Given the description of an element on the screen output the (x, y) to click on. 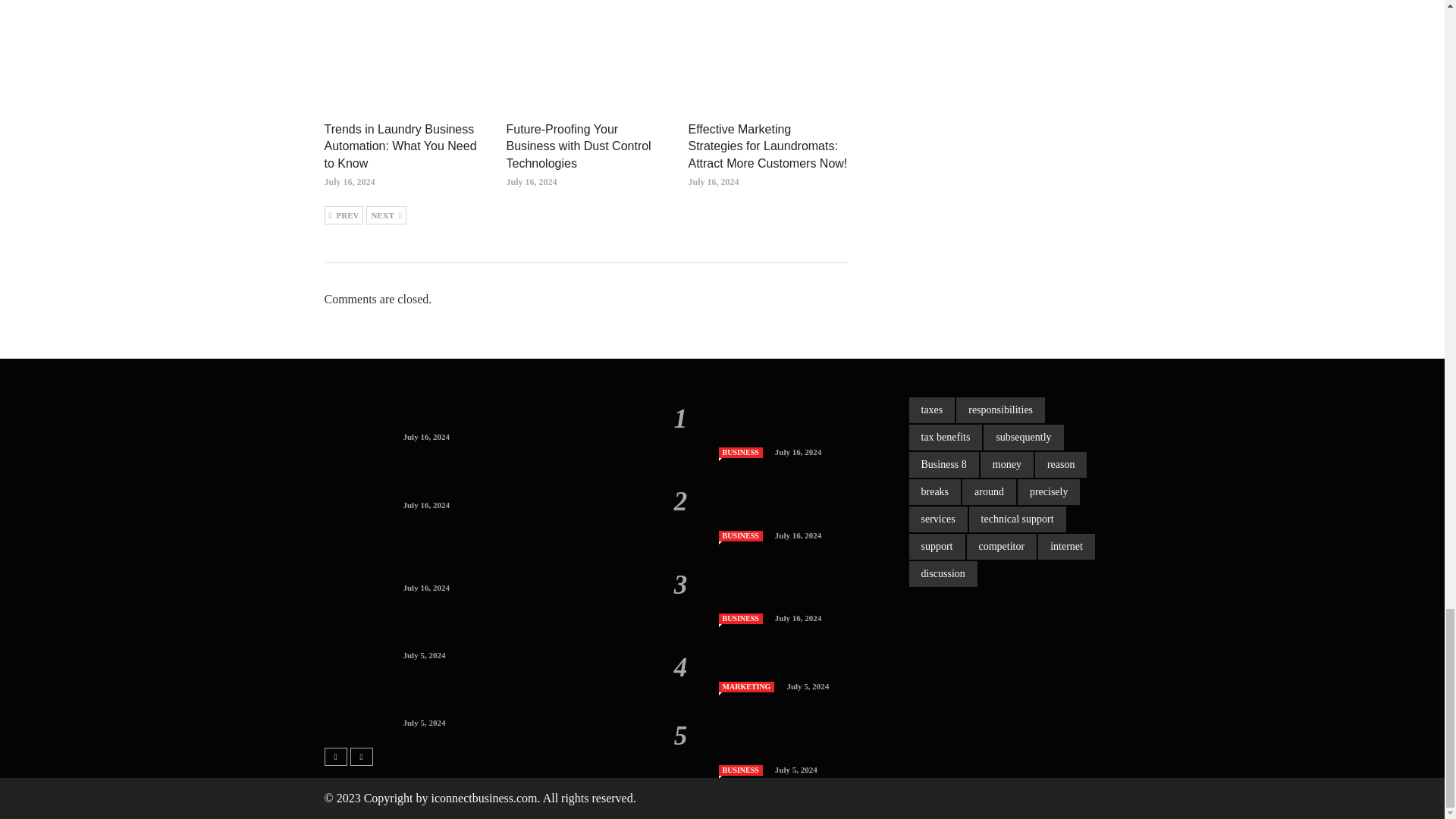
Previous (344, 215)
